Given the description of an element on the screen output the (x, y) to click on. 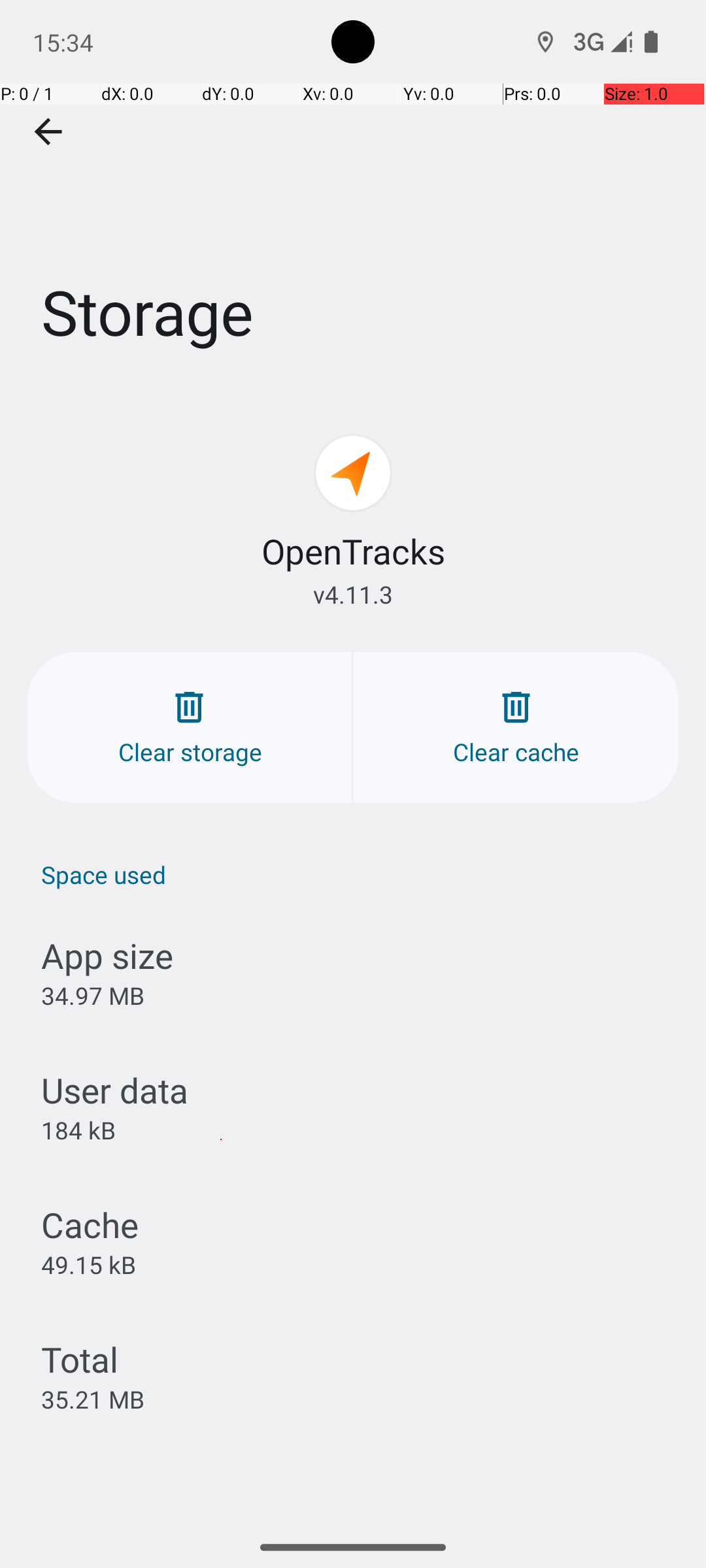
v4.11.3 Element type: android.widget.TextView (352, 593)
Clear storage Element type: android.widget.Button (189, 727)
Clear cache Element type: android.widget.Button (515, 727)
Space used Element type: android.widget.TextView (359, 874)
App size Element type: android.widget.TextView (107, 955)
34.97 MB Element type: android.widget.TextView (92, 995)
User data Element type: android.widget.TextView (114, 1089)
184 kB Element type: android.widget.TextView (78, 1129)
Cache Element type: android.widget.TextView (89, 1224)
49.15 kB Element type: android.widget.TextView (88, 1264)
Total Element type: android.widget.TextView (79, 1359)
35.21 MB Element type: android.widget.TextView (92, 1398)
